Given the description of an element on the screen output the (x, y) to click on. 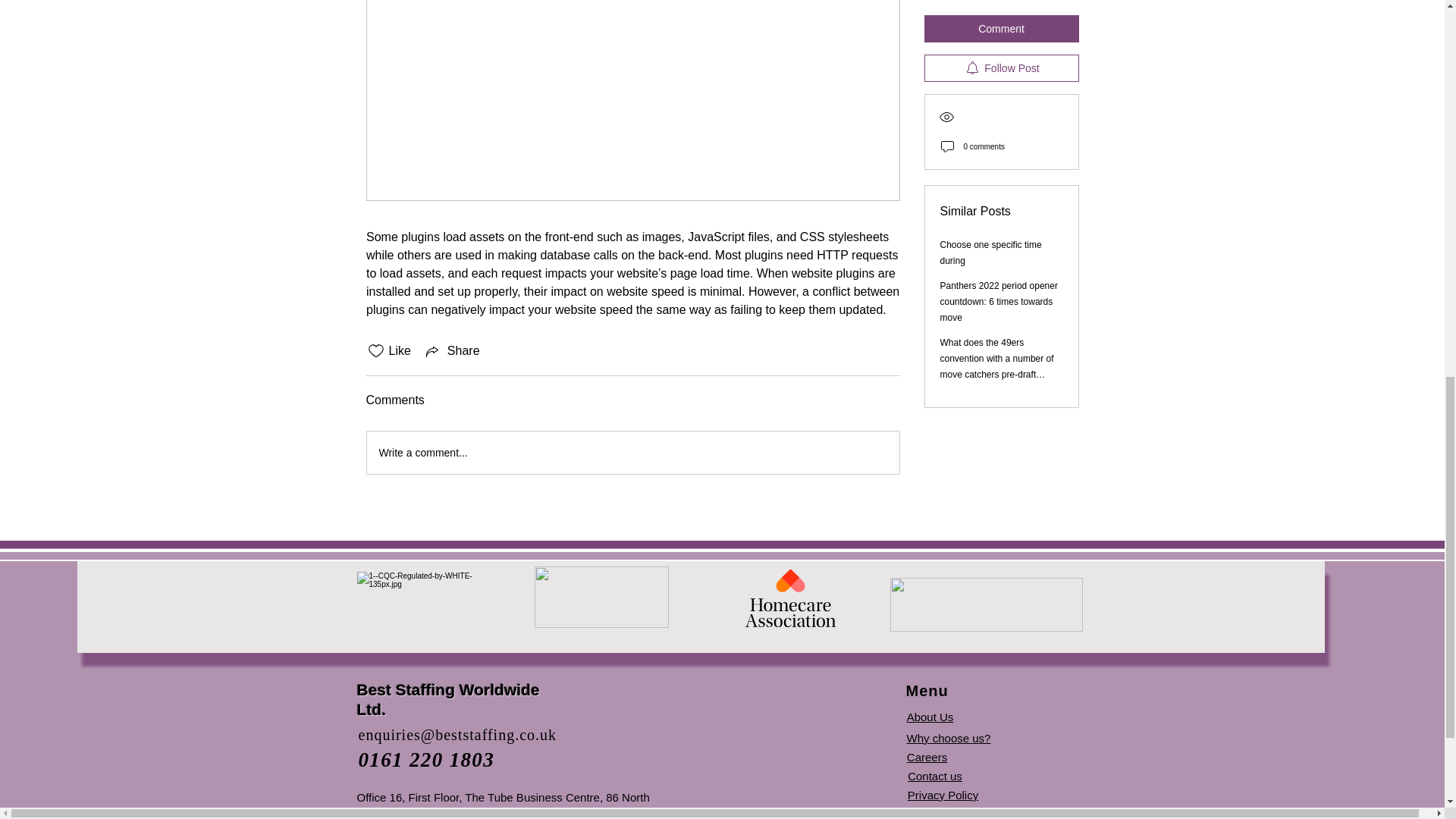
Write a comment... (632, 452)
About Us (930, 716)
Terms and Conditions (962, 813)
Home Office Logo.jpg (986, 604)
Privacy Policy (942, 794)
Registered-managers-membership.jpg (601, 597)
Share (451, 351)
Contact us (934, 775)
Careers (927, 757)
Why choose us? (949, 738)
